Given the description of an element on the screen output the (x, y) to click on. 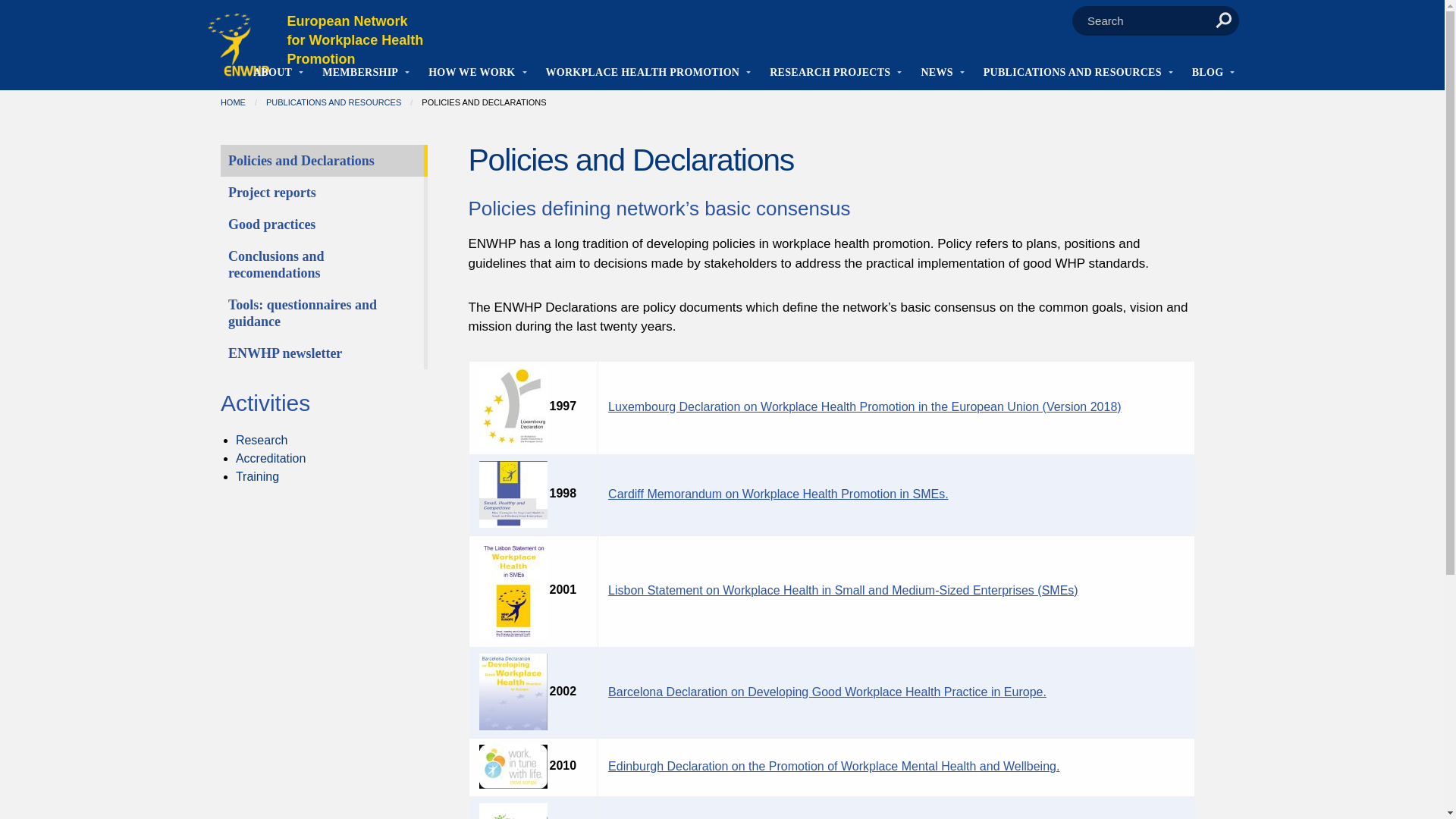
HOW WE WORK (471, 74)
Search (1223, 20)
MEMBERSHIP (360, 74)
ENWHP Divisions (471, 74)
European Network for Workplace Health Promotion (354, 39)
RESEARCH PROJECTS (829, 74)
Membership (360, 74)
Search (1223, 20)
ABOUT (272, 74)
WORKPLACE HEALTH PROMOTION (643, 74)
